Given the description of an element on the screen output the (x, y) to click on. 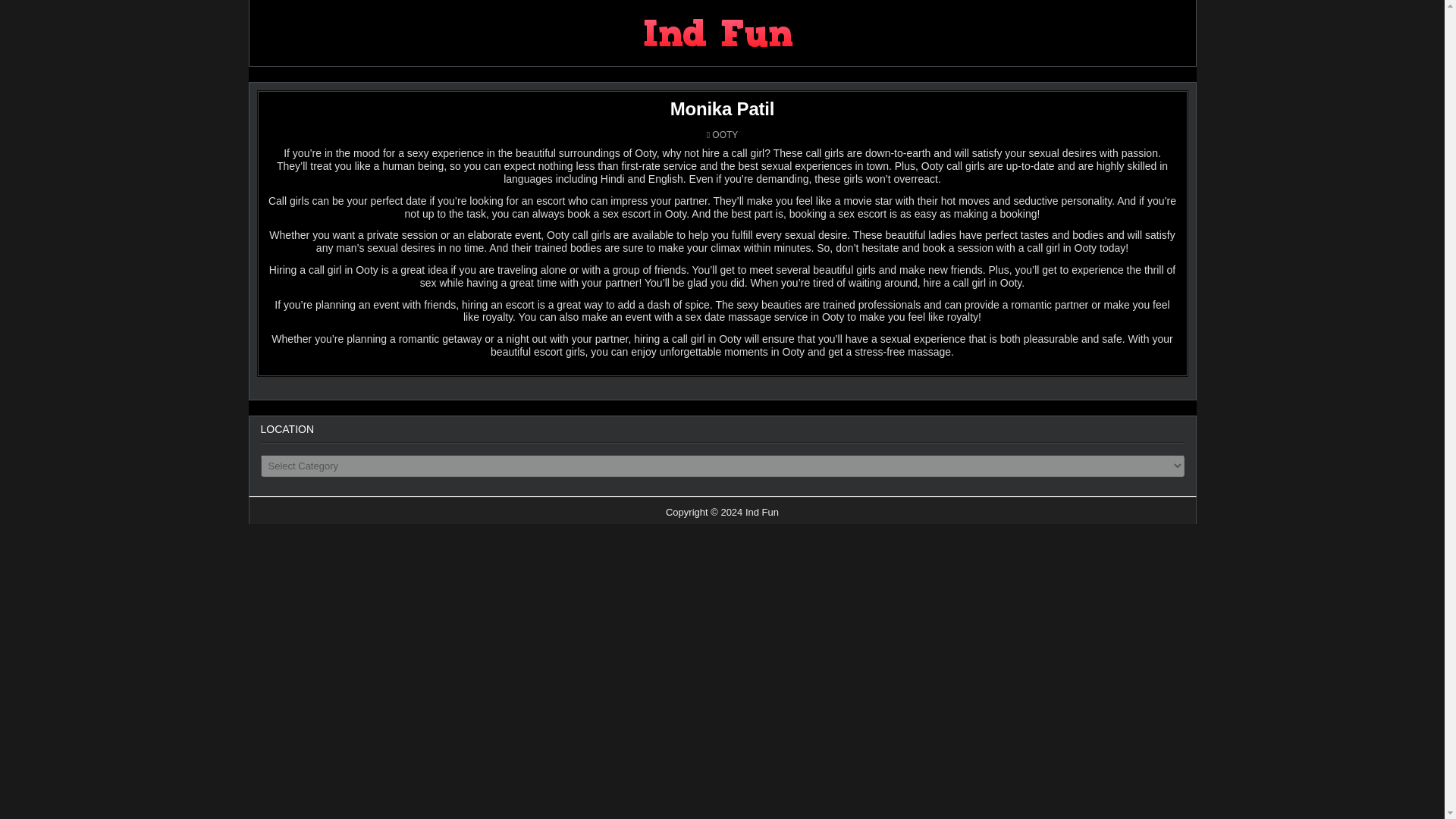
Monika Patil (721, 108)
OOTY (724, 134)
Ind Fun (836, 39)
